Given the description of an element on the screen output the (x, y) to click on. 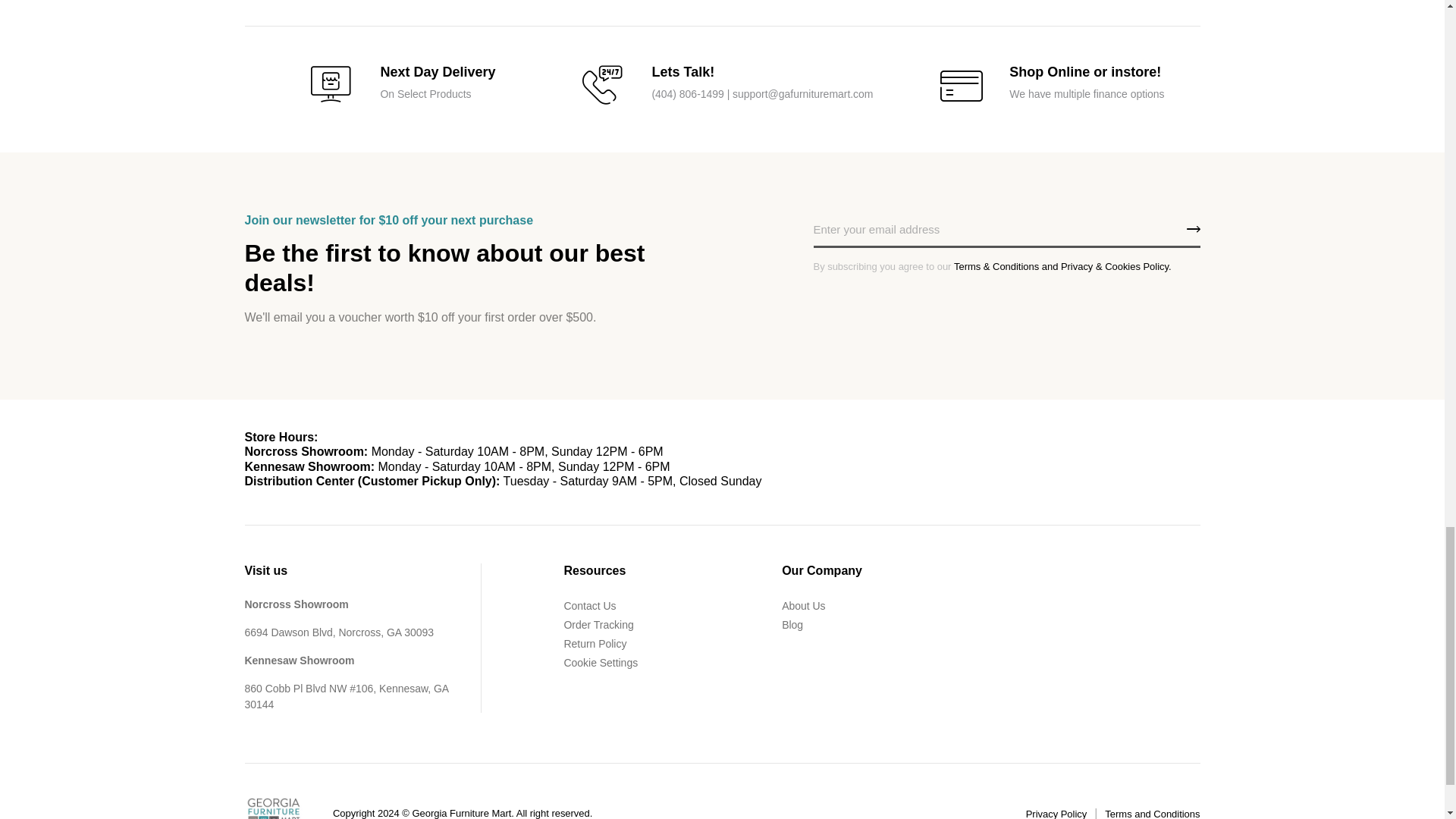
Georgia Furniture Mart (273, 807)
